Given the description of an element on the screen output the (x, y) to click on. 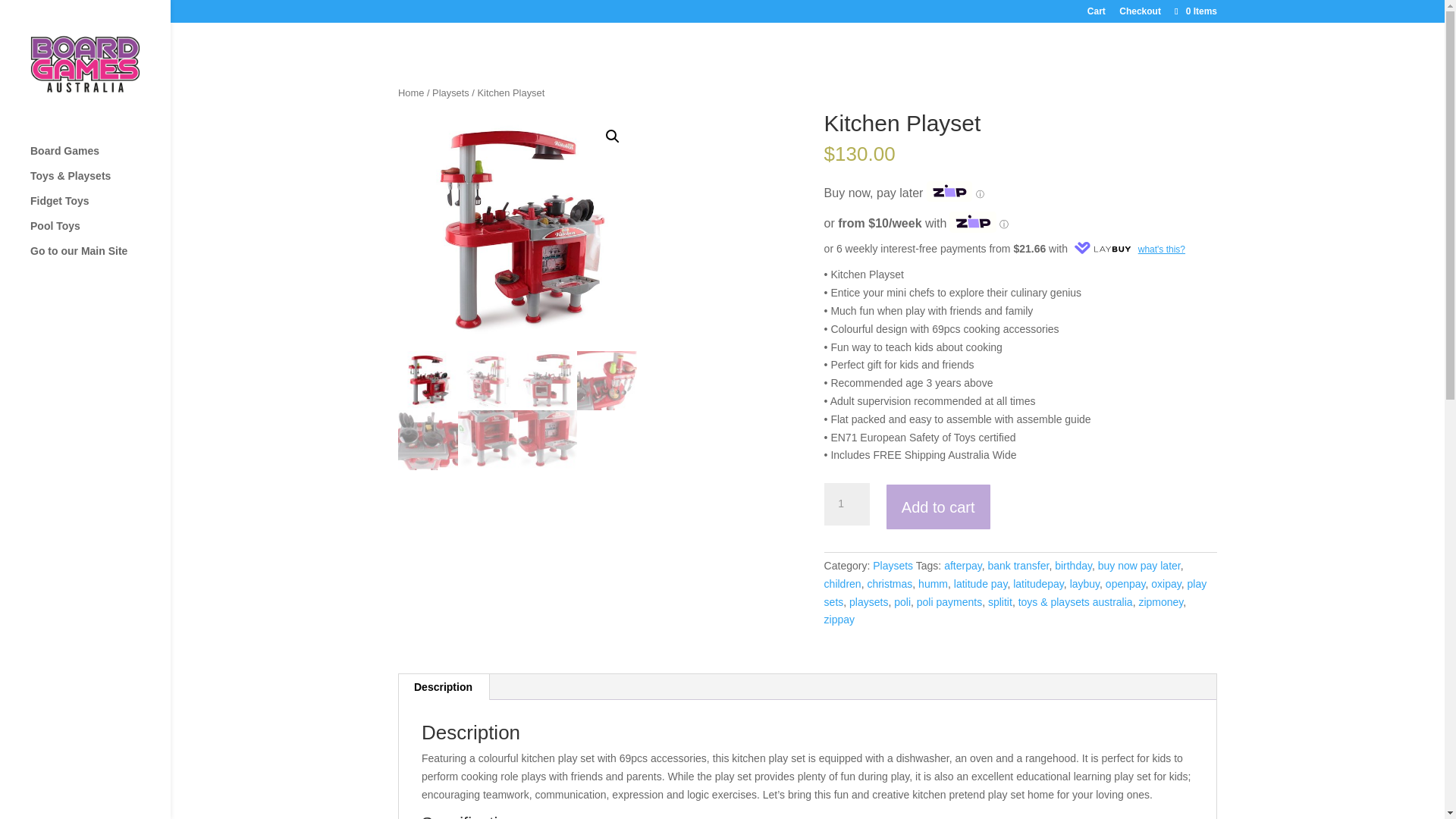
Fidget Toys (100, 207)
Checkout (1139, 14)
afterpay (962, 565)
buy now pay later (1138, 565)
birthday (1073, 565)
Home (410, 92)
latitude pay (980, 583)
christmas (889, 583)
Pool Toys (100, 232)
humm (932, 583)
Playsets (892, 565)
Cart (1096, 14)
what's this? (1127, 248)
1 (846, 504)
children (842, 583)
